Given the description of an element on the screen output the (x, y) to click on. 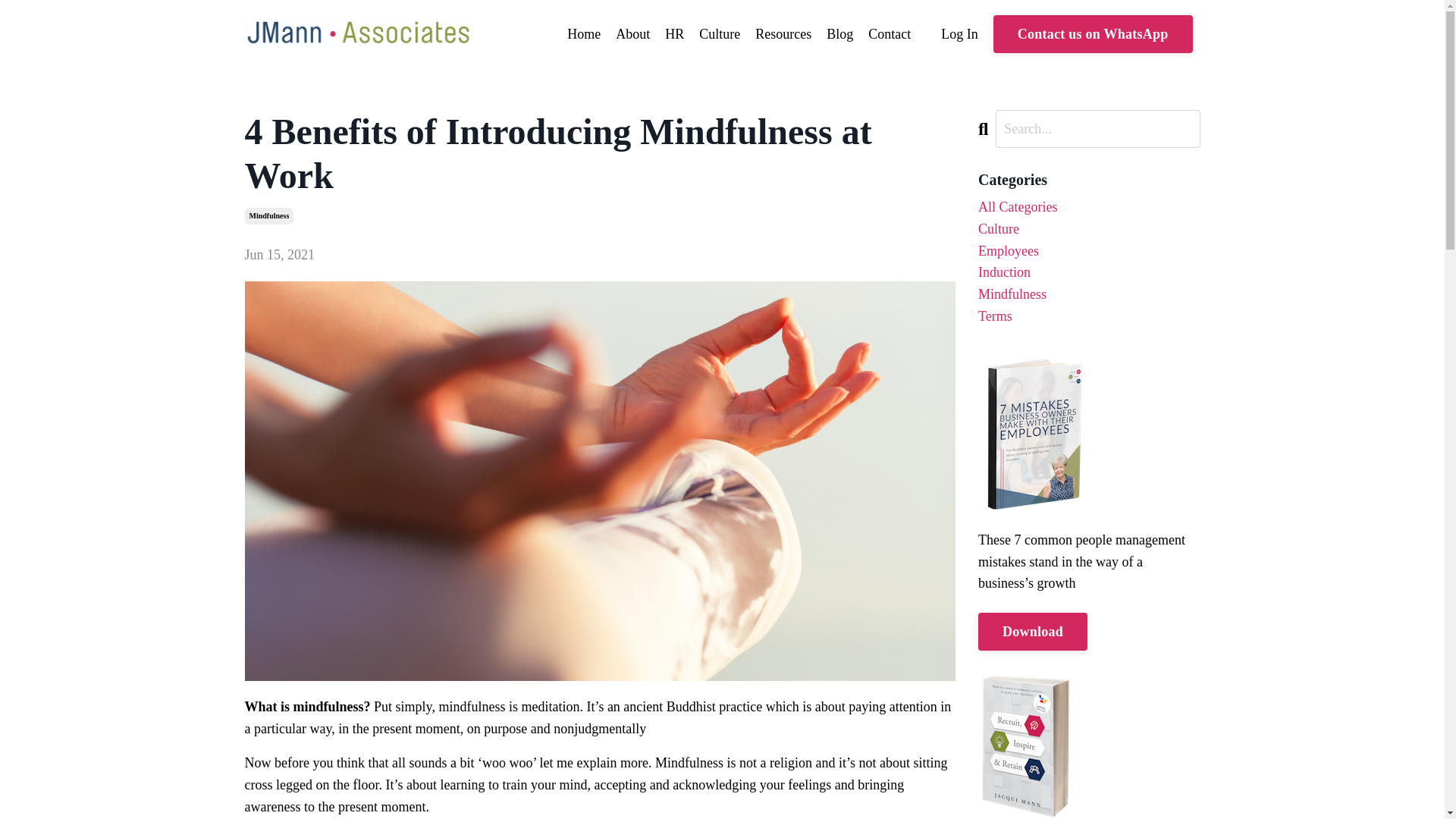
Culture (1088, 229)
Download (1032, 631)
Blog (840, 34)
About (632, 34)
All Categories (1088, 207)
Log In (959, 33)
Resources (782, 34)
Employees (1088, 251)
Mindfulness (1088, 294)
Home (583, 34)
